Given the description of an element on the screen output the (x, y) to click on. 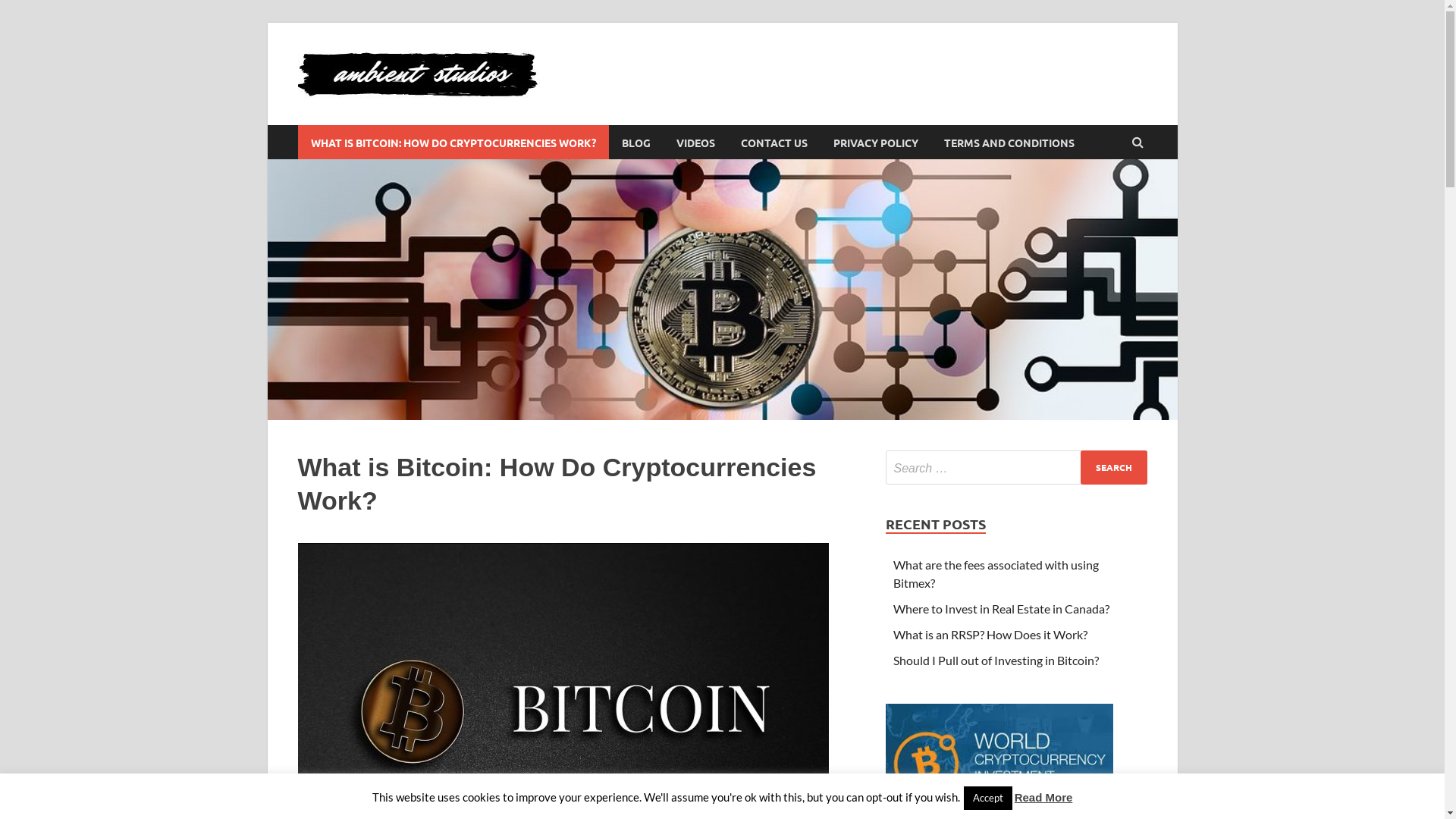
VIDEOS Element type: text (694, 142)
What are the fees associated with using Bitmex? Element type: text (995, 573)
WHAT IS BITCOIN: HOW DO CRYPTOCURRENCIES WORK? Element type: text (452, 142)
Where to Invest in Real Estate in Canada? Element type: text (1001, 608)
Accept Element type: text (987, 797)
Ambient Studios Element type: text (663, 74)
Search Element type: text (1112, 467)
PRIVACY POLICY Element type: text (875, 142)
Read More Element type: text (1043, 797)
CONTACT US Element type: text (774, 142)
What is an RRSP? How Does it Work? Element type: text (990, 634)
BLOG Element type: text (635, 142)
Should I Pull out of Investing in Bitcoin? Element type: text (995, 659)
TERMS AND CONDITIONS Element type: text (1009, 142)
